Given the description of an element on the screen output the (x, y) to click on. 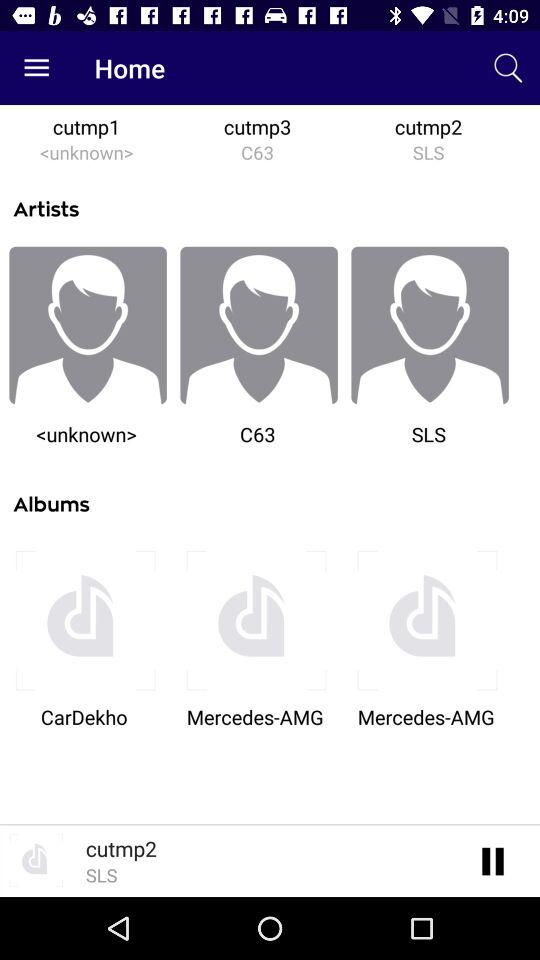
pause the music (493, 860)
